Given the description of an element on the screen output the (x, y) to click on. 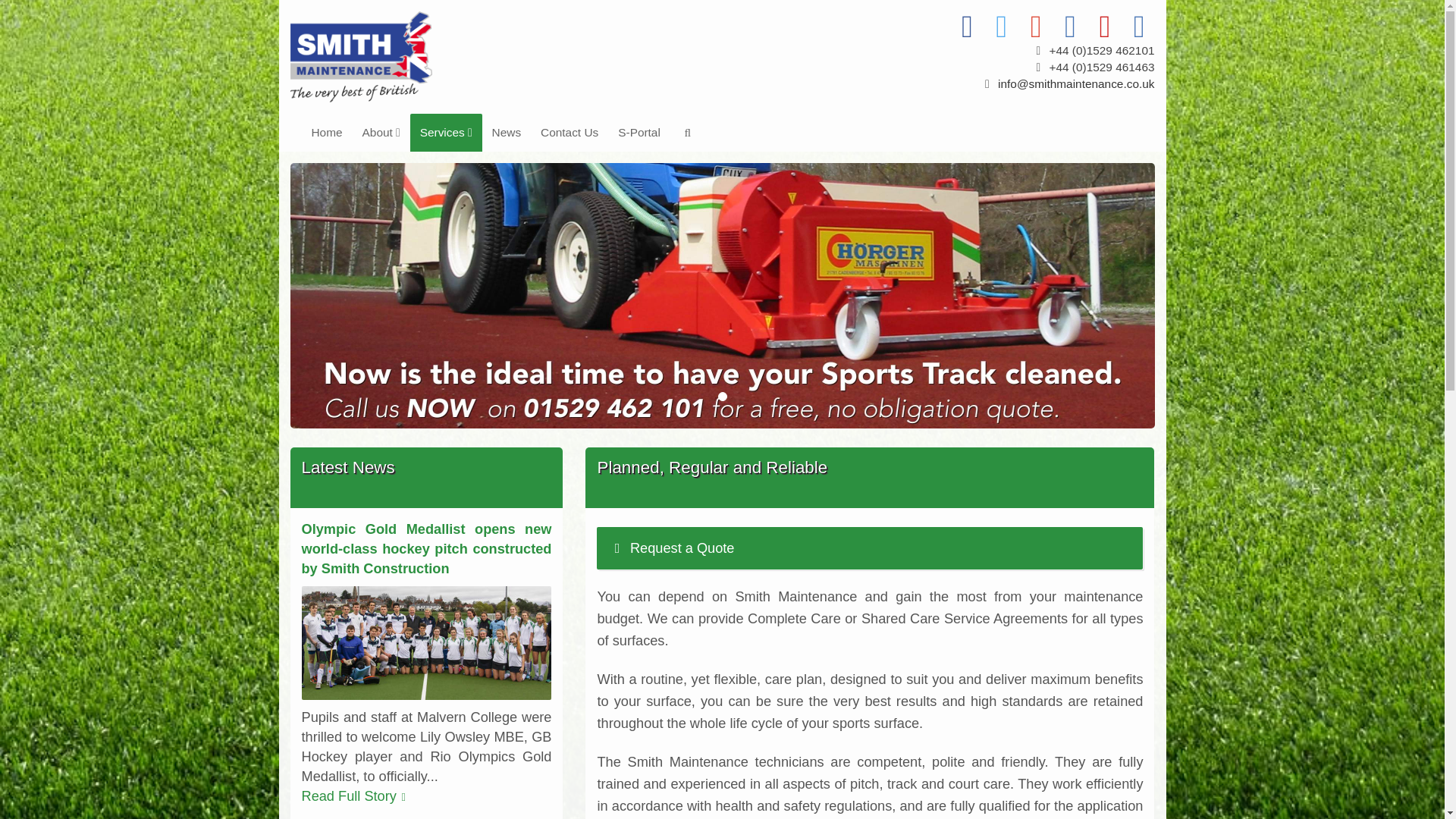
Services (445, 132)
Read Full Story (355, 795)
We are on Twitter (1002, 25)
Request a Quote (682, 548)
We are on LinkedIn (1071, 25)
About (381, 132)
News (506, 132)
We are on YouTube (1105, 25)
S-Portal (638, 132)
